Given the description of an element on the screen output the (x, y) to click on. 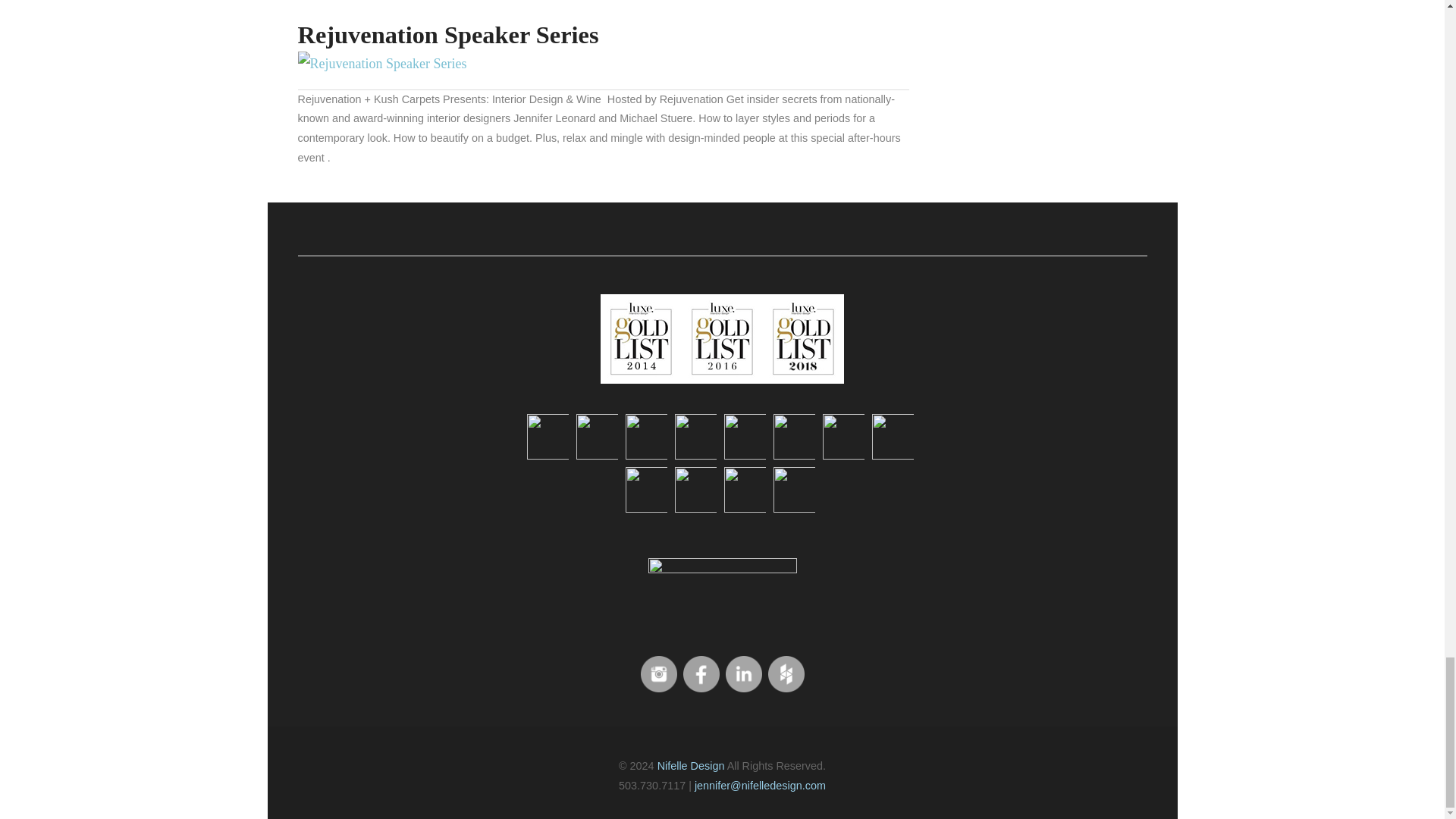
Rejuvenation Speaker Series (381, 63)
